Given the description of an element on the screen output the (x, y) to click on. 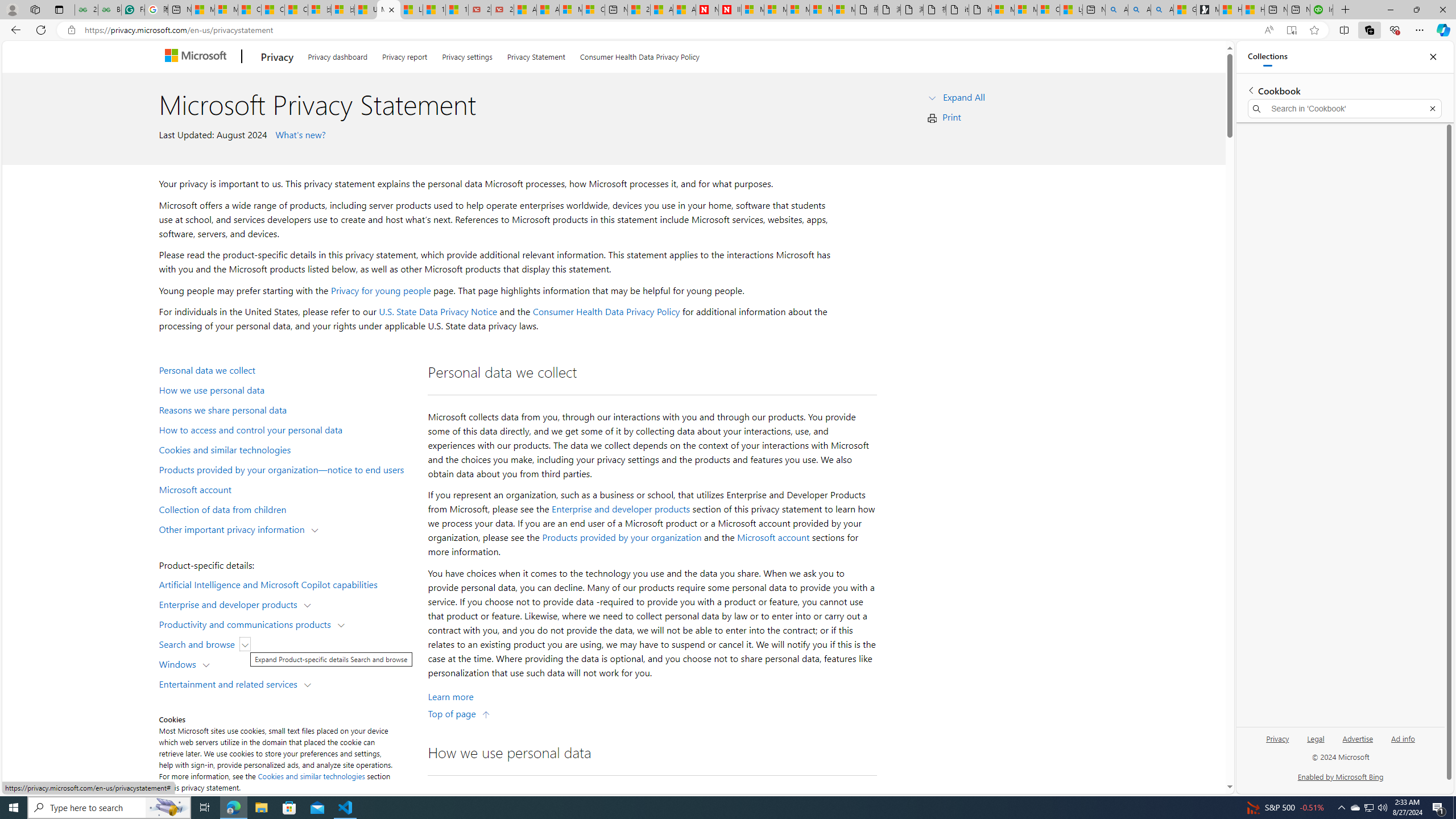
Search in 'Cookbook' (1345, 108)
21 Movies That Outdid the Books They Were Based On (502, 9)
Privacy dashboard (337, 54)
Learn More about Personal data we collect (450, 696)
Microsoft account (287, 488)
